Given the description of an element on the screen output the (x, y) to click on. 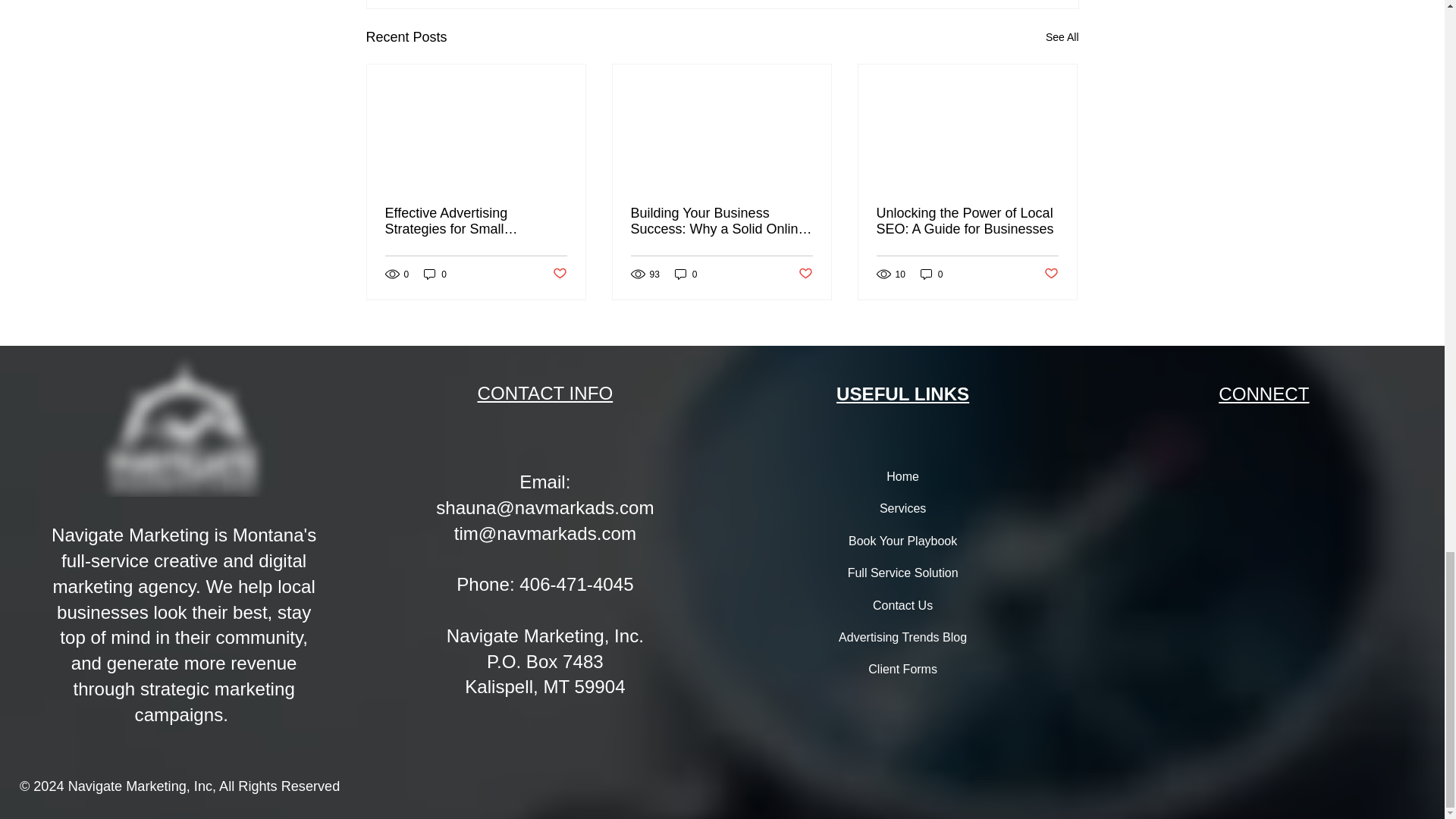
Book Your Playbook (902, 541)
Post not marked as liked (558, 273)
0 (685, 273)
Post not marked as liked (804, 273)
0 (435, 273)
Full Service Solution (902, 572)
Services (902, 508)
Advertising Trends Blog (902, 637)
0 (931, 273)
Contact Us (902, 605)
Effective Advertising Strategies for Small Businesses (476, 221)
Post not marked as liked (1050, 273)
Unlocking the Power of Local SEO: A Guide for Businesses (967, 221)
Home (902, 477)
